Given the description of an element on the screen output the (x, y) to click on. 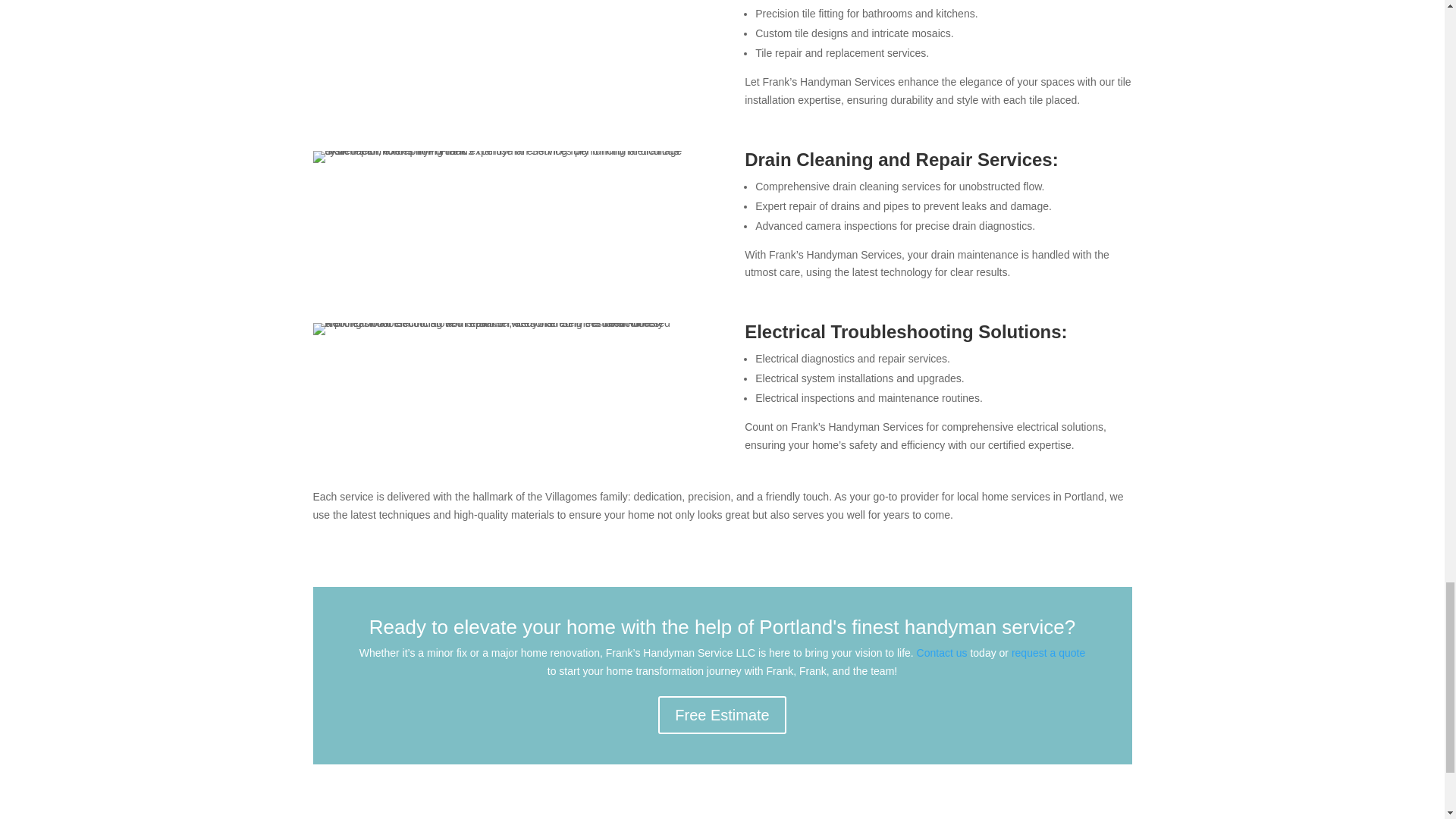
Free Estimate (722, 714)
Contact us (942, 653)
electrical-repair-service (505, 328)
request a quote (1047, 653)
drain-repair-technicians-at-work (505, 156)
